Given the description of an element on the screen output the (x, y) to click on. 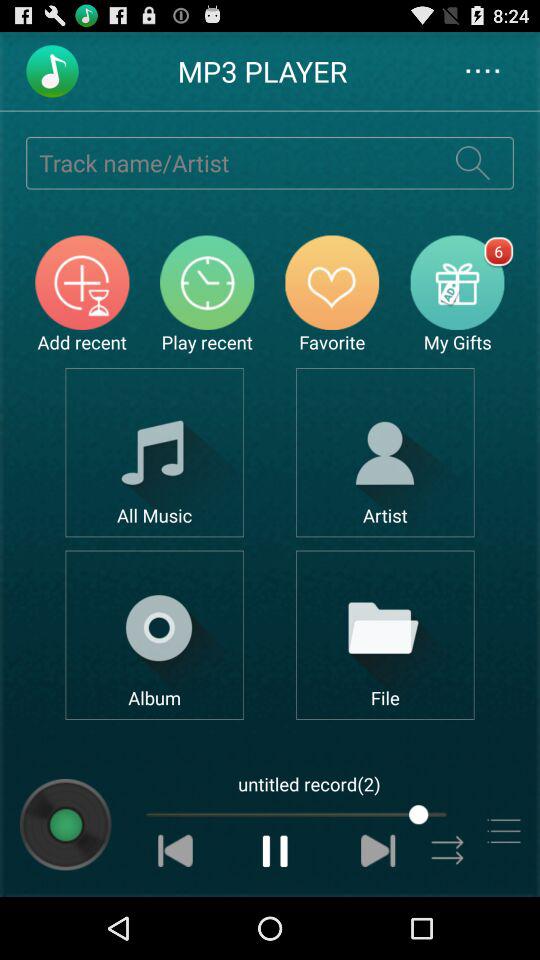
pause song (276, 850)
